Given the description of an element on the screen output the (x, y) to click on. 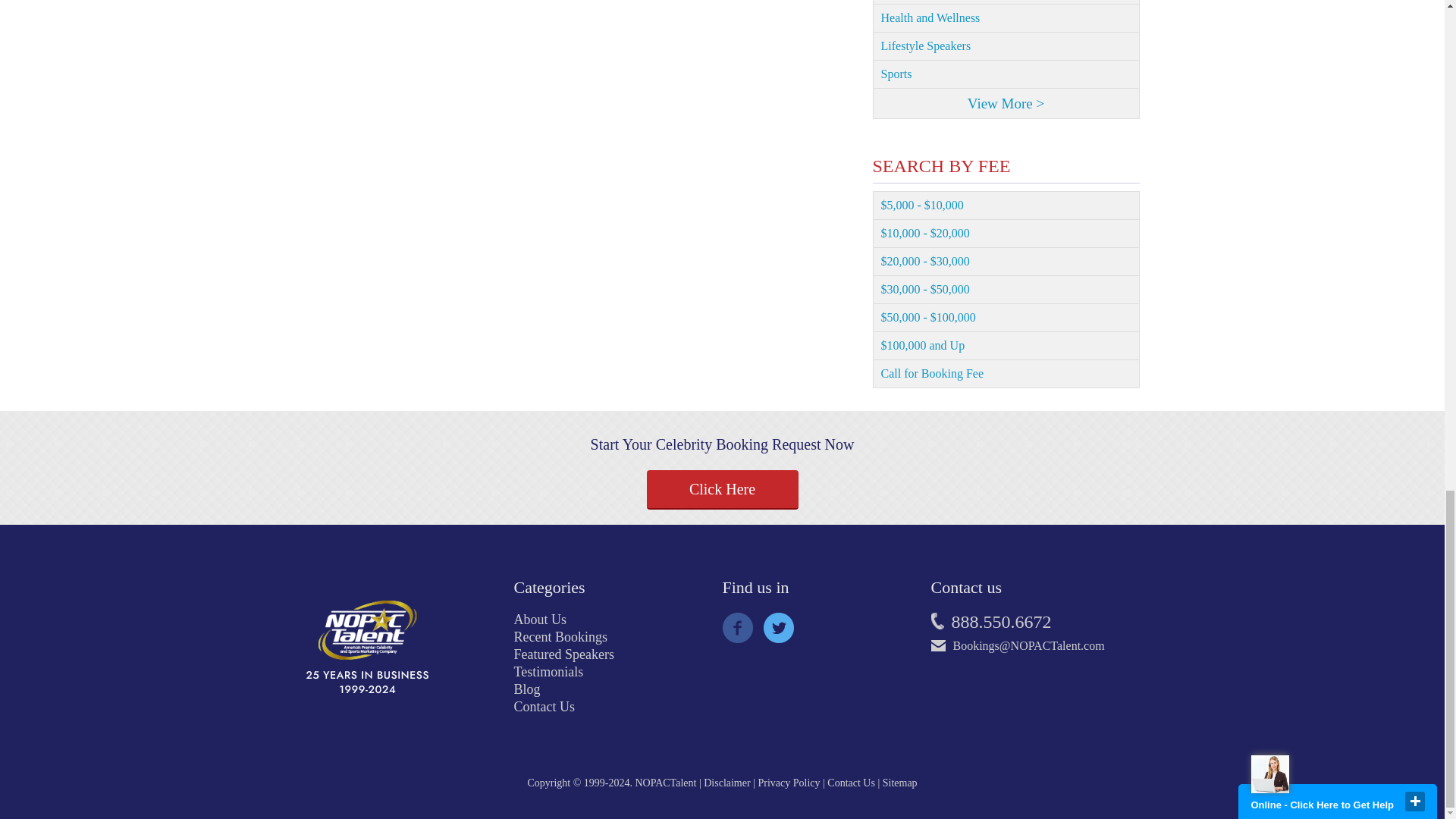
Lifestyle Speakers (1005, 46)
Sports (1005, 74)
Health and Wellness (1005, 18)
Entertainment (1005, 2)
